Given the description of an element on the screen output the (x, y) to click on. 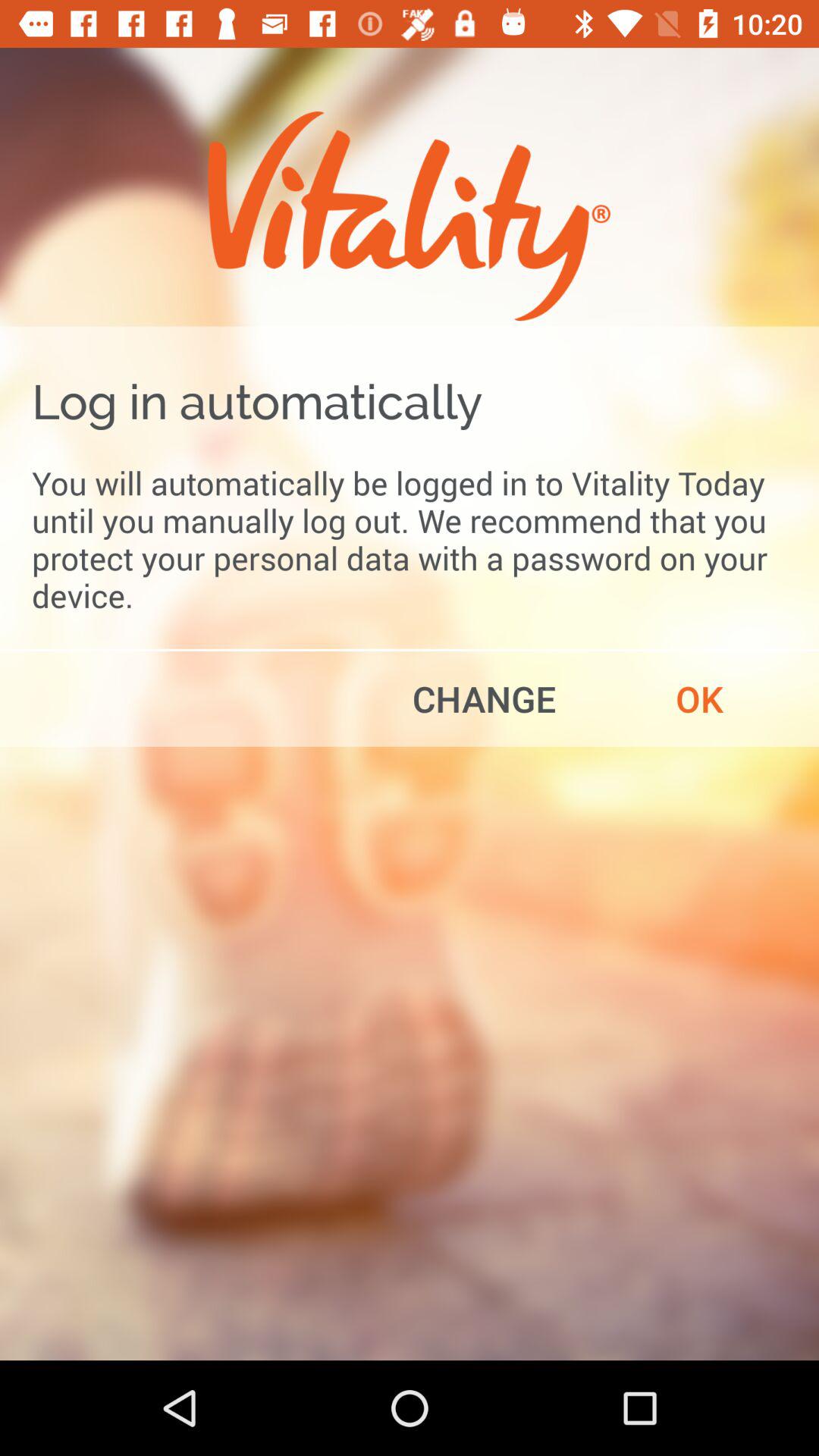
tap item next to ok item (484, 698)
